Given the description of an element on the screen output the (x, y) to click on. 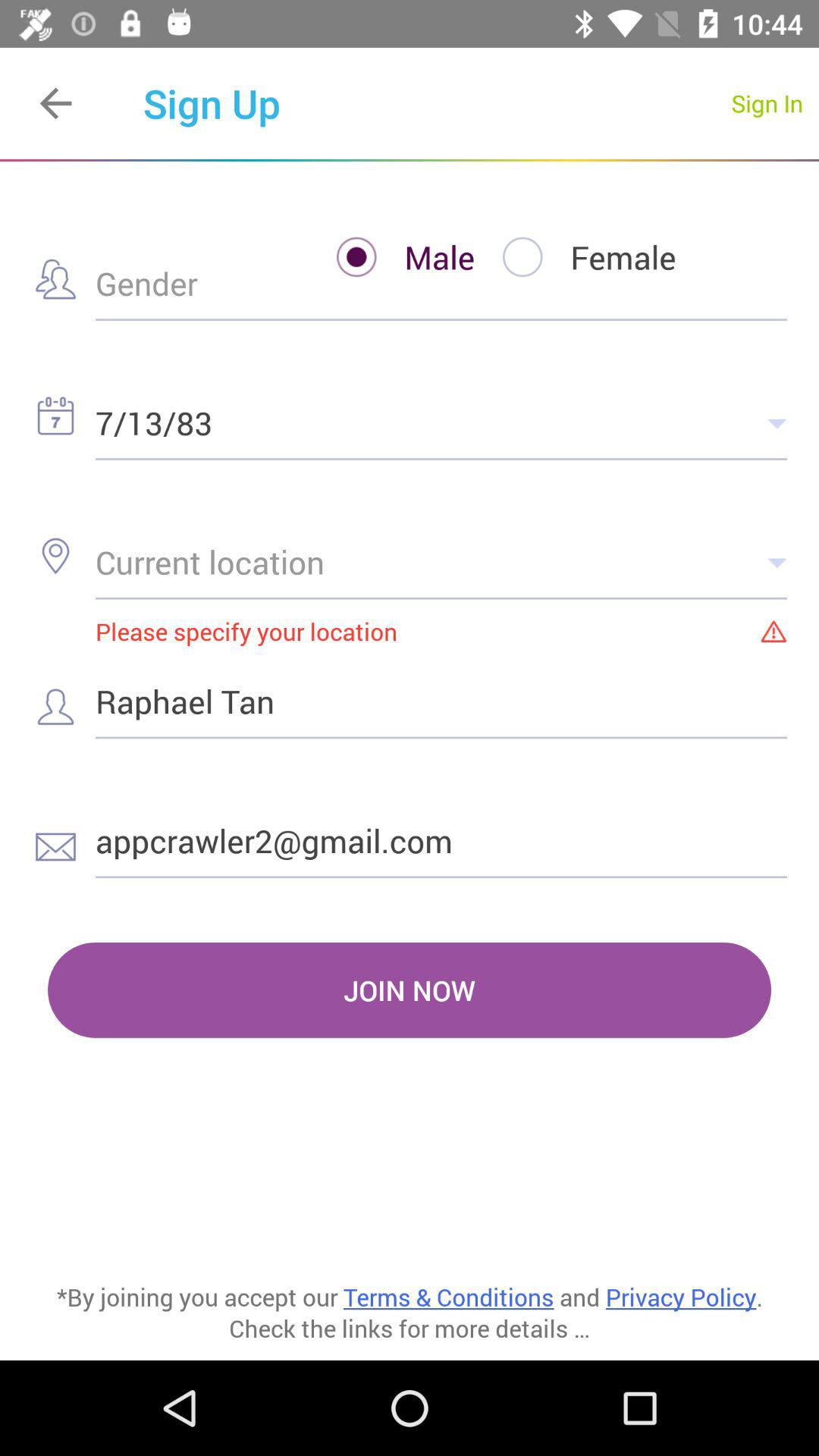
flip until the sign in (767, 103)
